Given the description of an element on the screen output the (x, y) to click on. 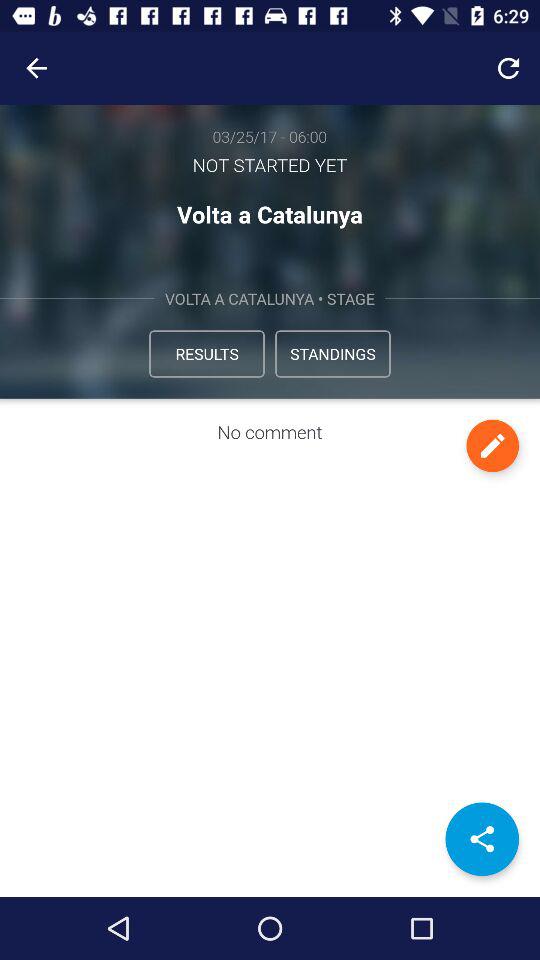
launch item below volta a catalunya item (206, 353)
